Given the description of an element on the screen output the (x, y) to click on. 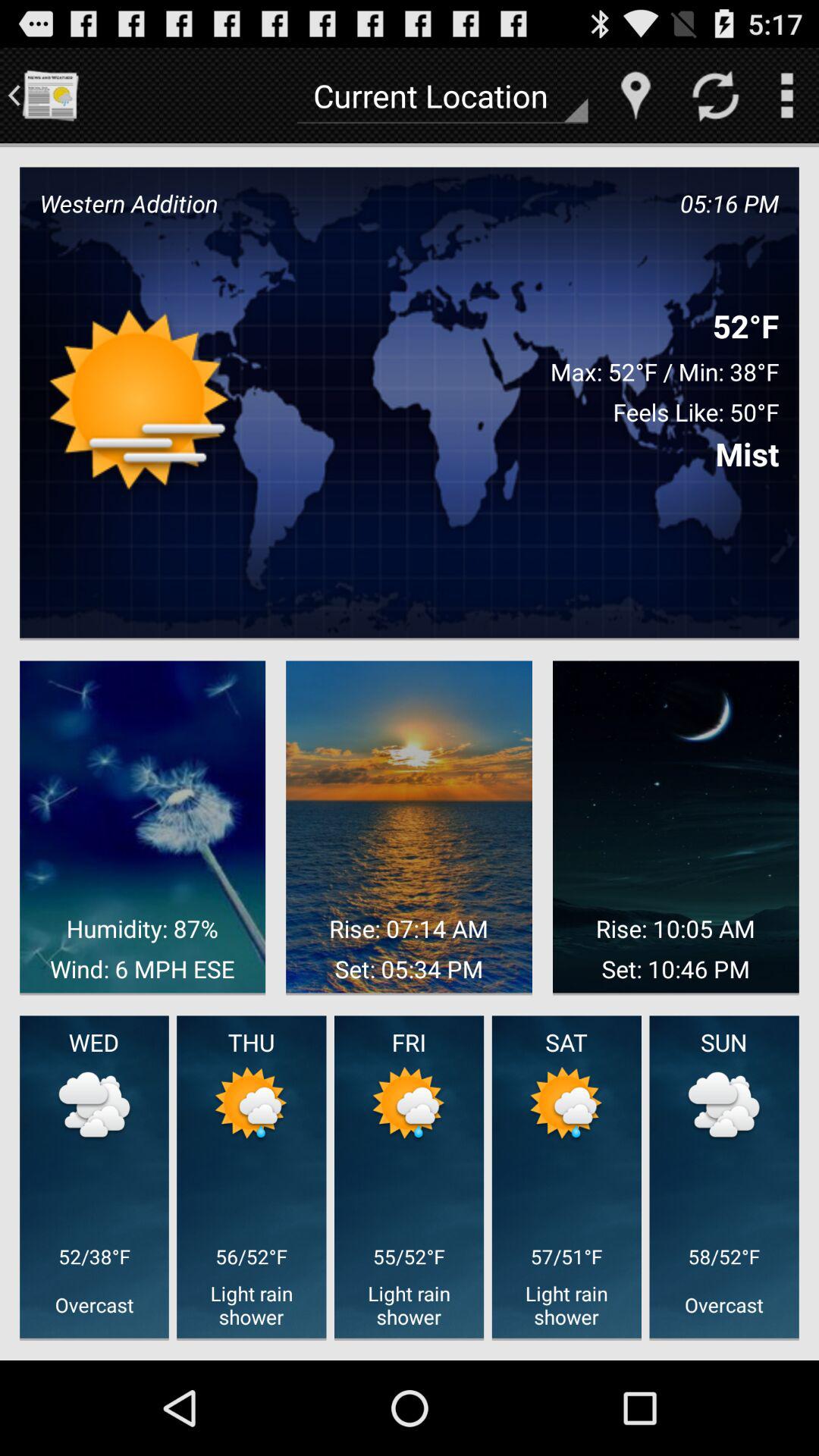
view more options (787, 95)
